Given the description of an element on the screen output the (x, y) to click on. 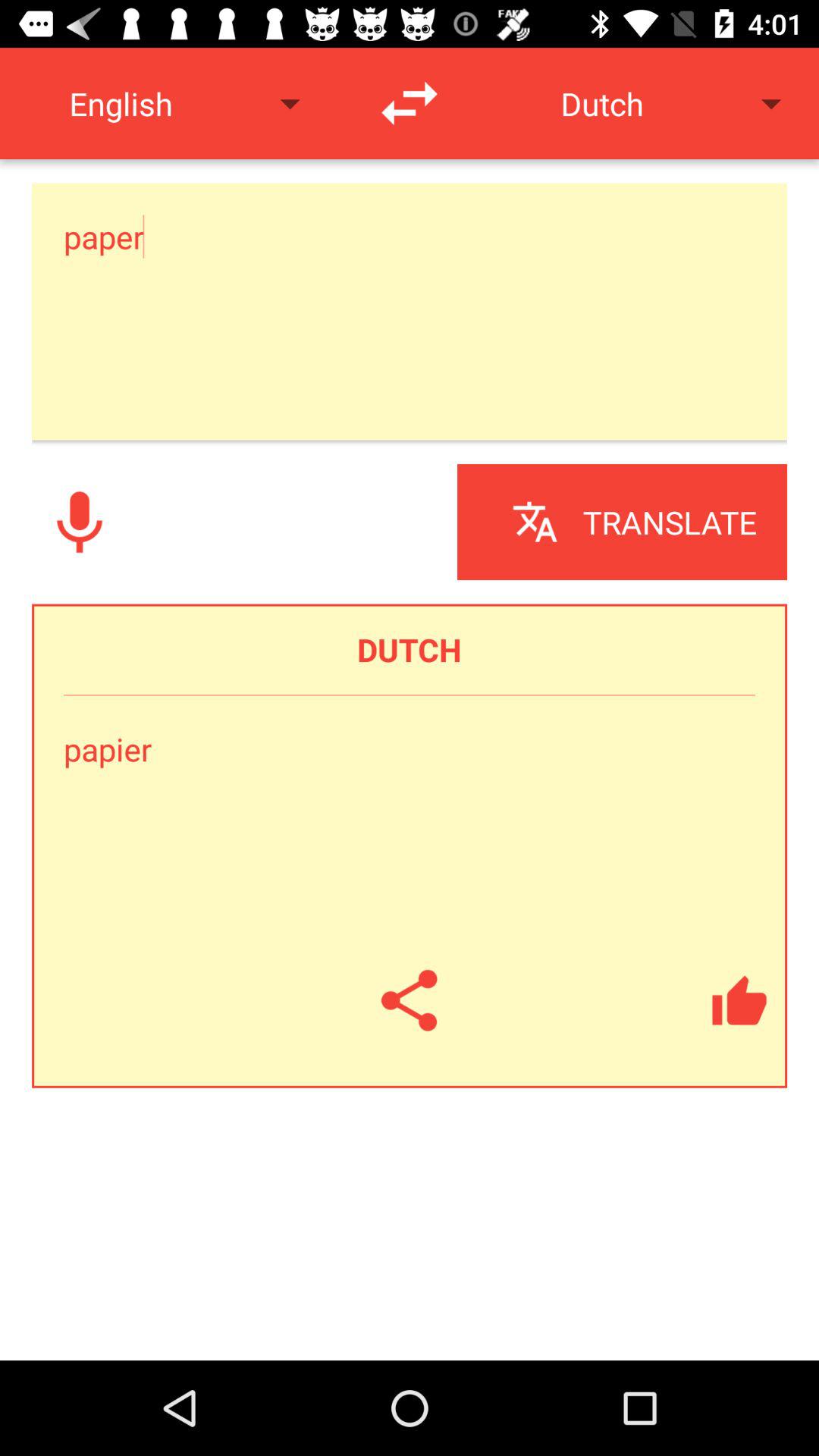
like the content (739, 1000)
